Given the description of an element on the screen output the (x, y) to click on. 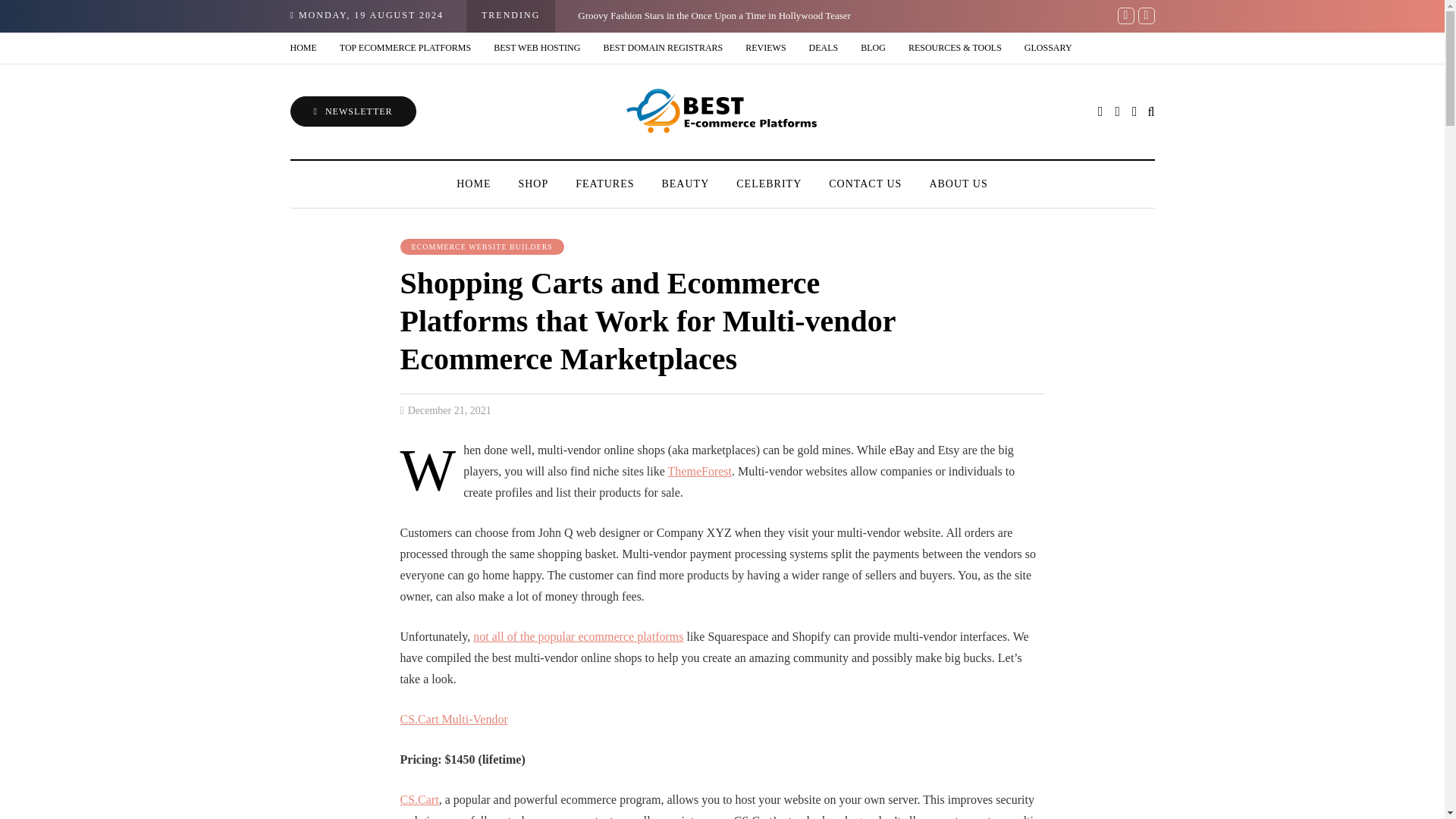
HOME (308, 47)
NEWSLETTER (351, 111)
HOME (472, 184)
BEST WEB HOSTING (536, 47)
REVIEWS (764, 47)
BLOG (872, 47)
BEST DOMAIN REGISTRARS (662, 47)
TOP ECOMMERCE PLATFORMS (405, 47)
DEALS (823, 47)
